Given the description of an element on the screen output the (x, y) to click on. 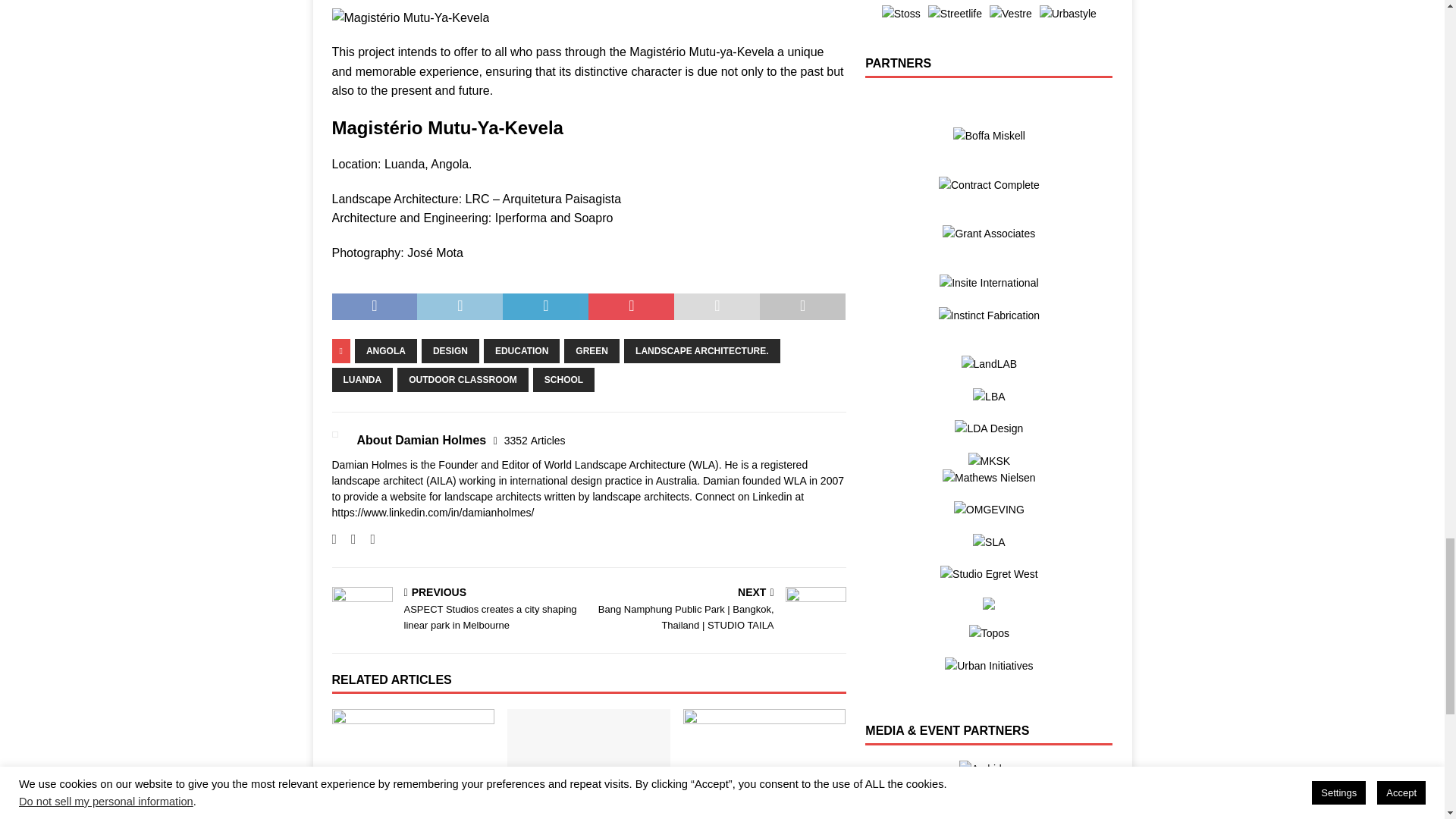
Follow Damian Holmes on LinkedIn (366, 539)
More articles written by Damian Holmes' (534, 440)
2019 WLA Awards winners announced (413, 764)
Follow Damian Holmes on Twitter (347, 539)
